Given the description of an element on the screen output the (x, y) to click on. 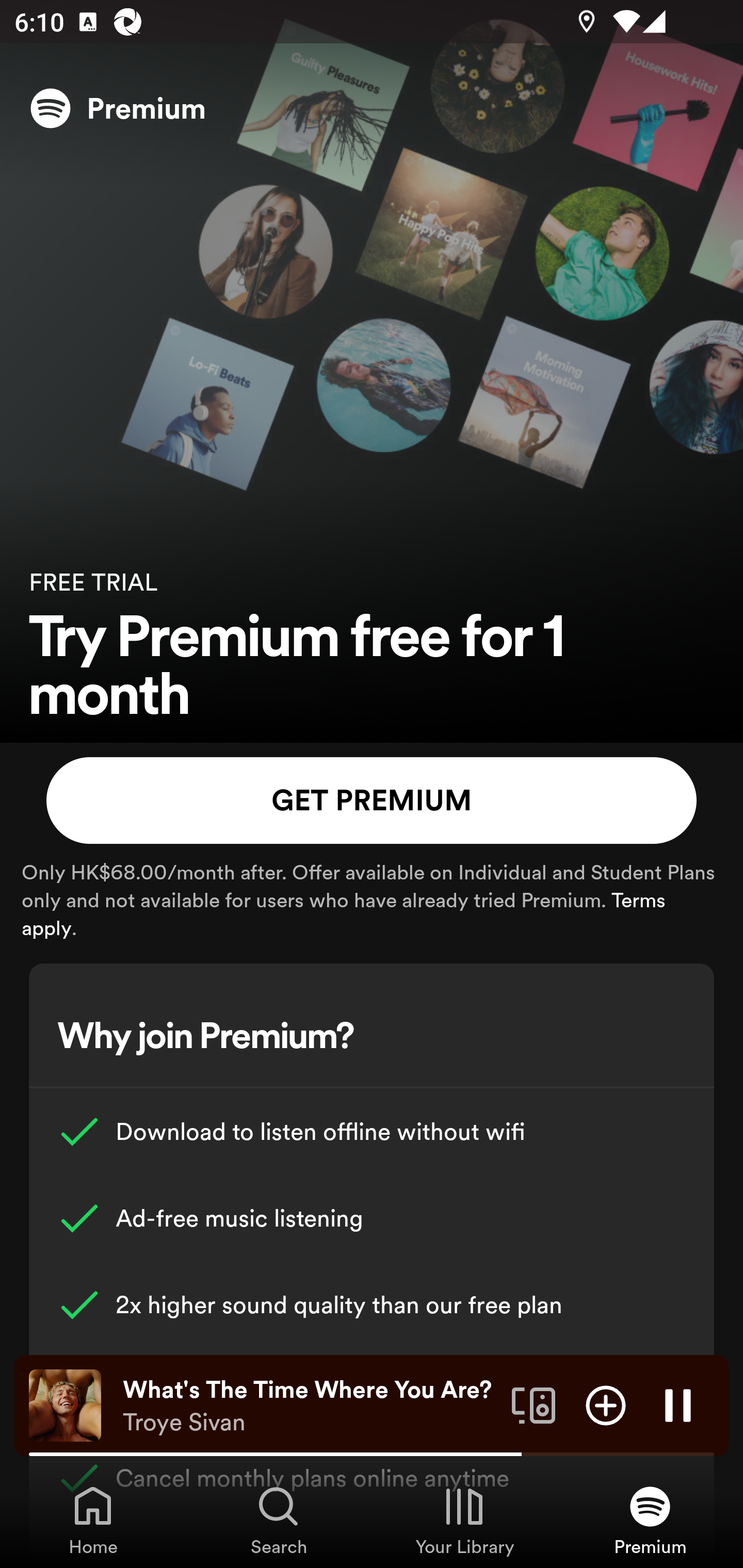
GET PREMIUM (371, 800)
What's The Time Where You Are? Troye Sivan (309, 1405)
The cover art of the currently playing track (64, 1404)
Connect to a device. Opens the devices menu (533, 1404)
Add item (605, 1404)
Pause (677, 1404)
Home, Tab 1 of 4 Home Home (92, 1519)
Search, Tab 2 of 4 Search Search (278, 1519)
Your Library, Tab 3 of 4 Your Library Your Library (464, 1519)
Premium, Tab 4 of 4 Premium Premium (650, 1519)
